Given the description of an element on the screen output the (x, y) to click on. 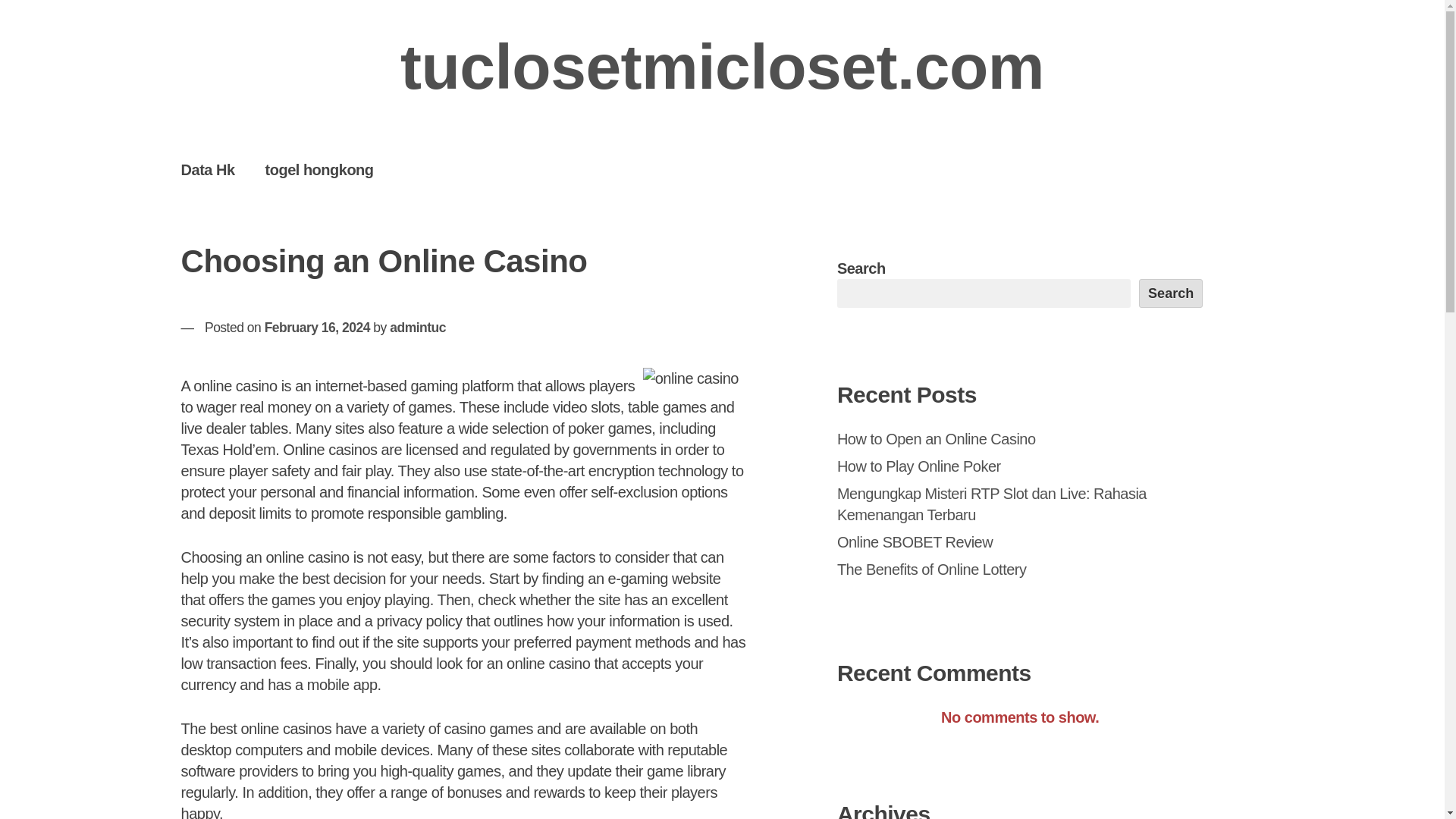
admintuc (417, 327)
Search (1171, 293)
Online SBOBET Review (914, 541)
tuclosetmicloset.com (721, 66)
How to Open an Online Casino (936, 438)
How to Play Online Poker (919, 466)
Data Hk (207, 169)
togel hongkong (319, 169)
The Benefits of Online Lottery (931, 569)
February 16, 2024 (316, 327)
